Given the description of an element on the screen output the (x, y) to click on. 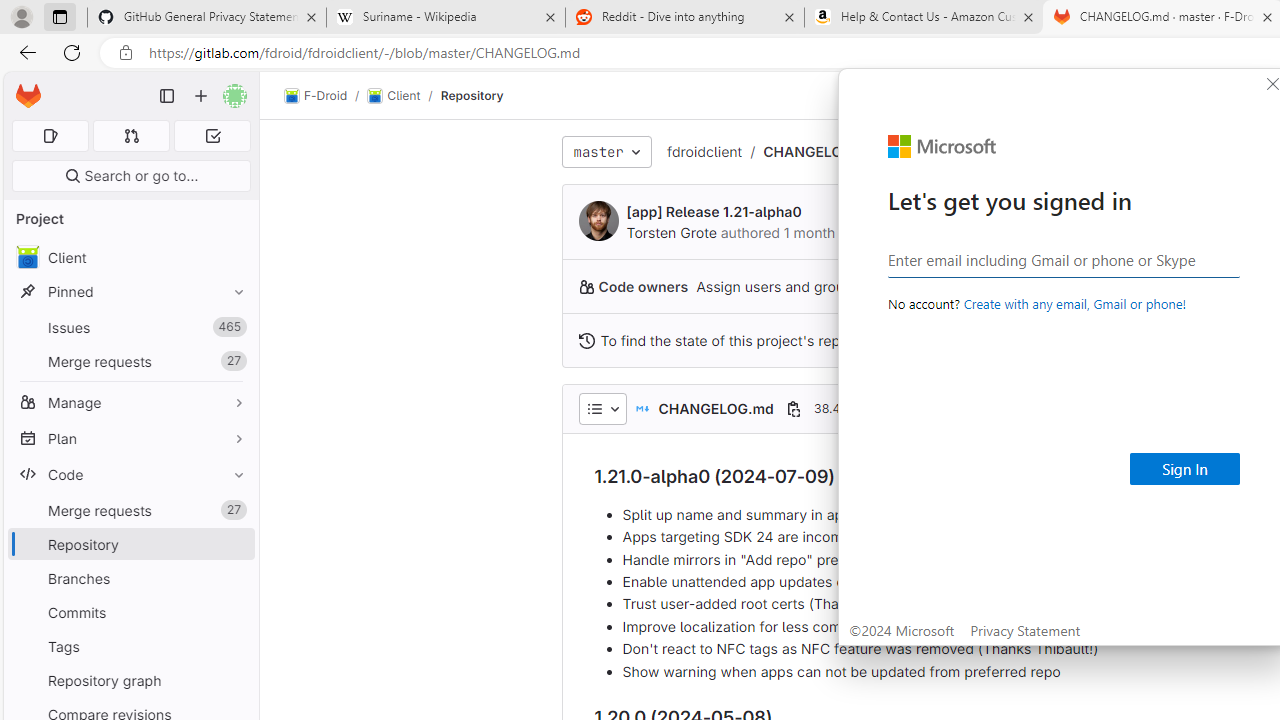
Go Back (Alt+LeftArrow) (960, 16)
Explorer Section: windows_crawler (175, 80)
test.py (363, 52)
Edit (89, 16)
Go (235, 16)
Close (Ctrl+F4) (872, 52)
del.py (827, 52)
Run and Debug (Ctrl+Shift+D) (24, 202)
Python (24, 346)
Go Forward (Alt+RightArrow) (986, 16)
auto.py (483, 52)
Explorer (Ctrl+Shift+E) (24, 58)
Explorer actions (208, 52)
